Given the description of an element on the screen output the (x, y) to click on. 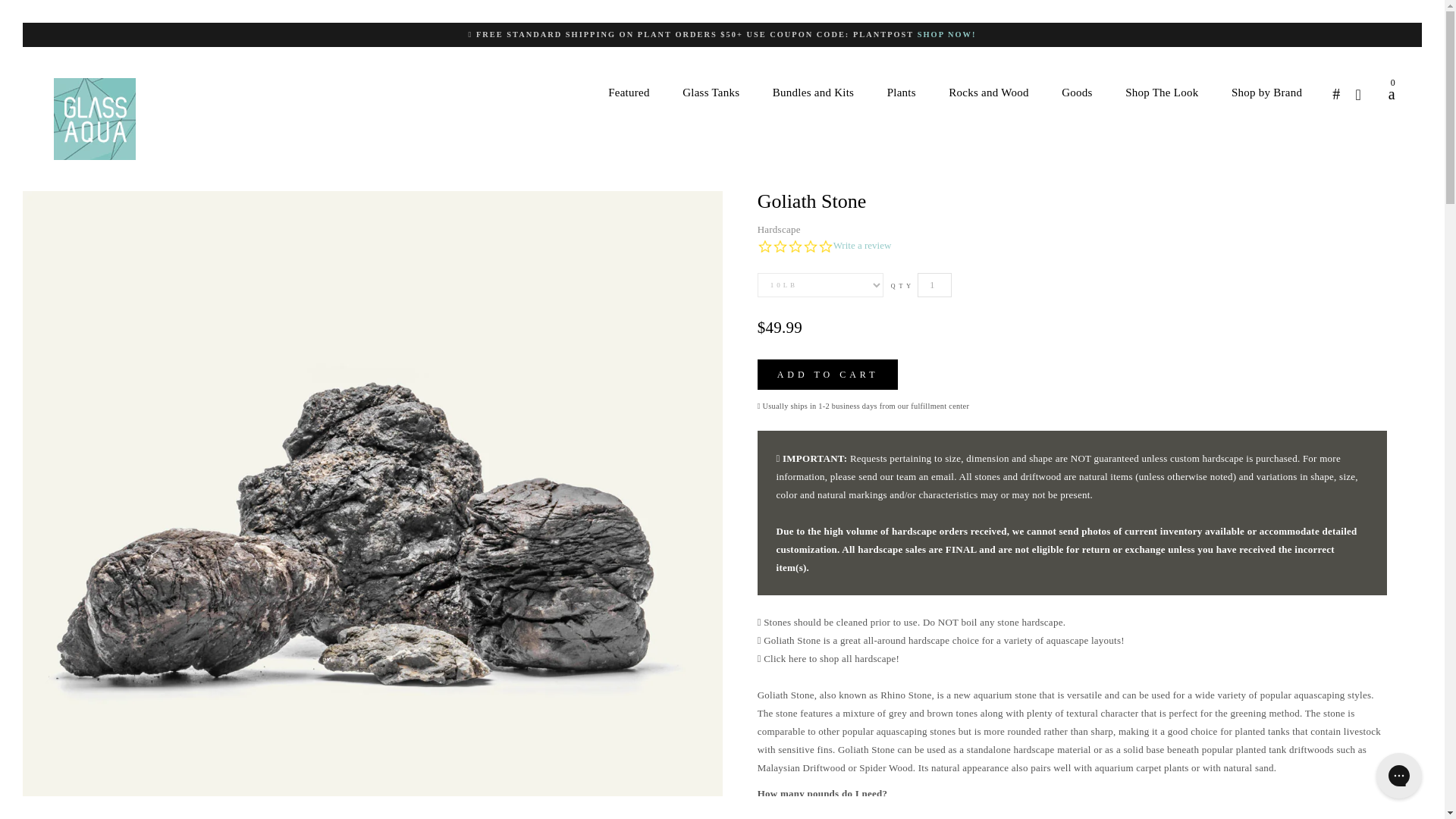
Glass Tanks (710, 92)
Bundles and Kits (813, 92)
1 (934, 284)
SHOP NOW! (946, 34)
0 (1384, 94)
